Given the description of an element on the screen output the (x, y) to click on. 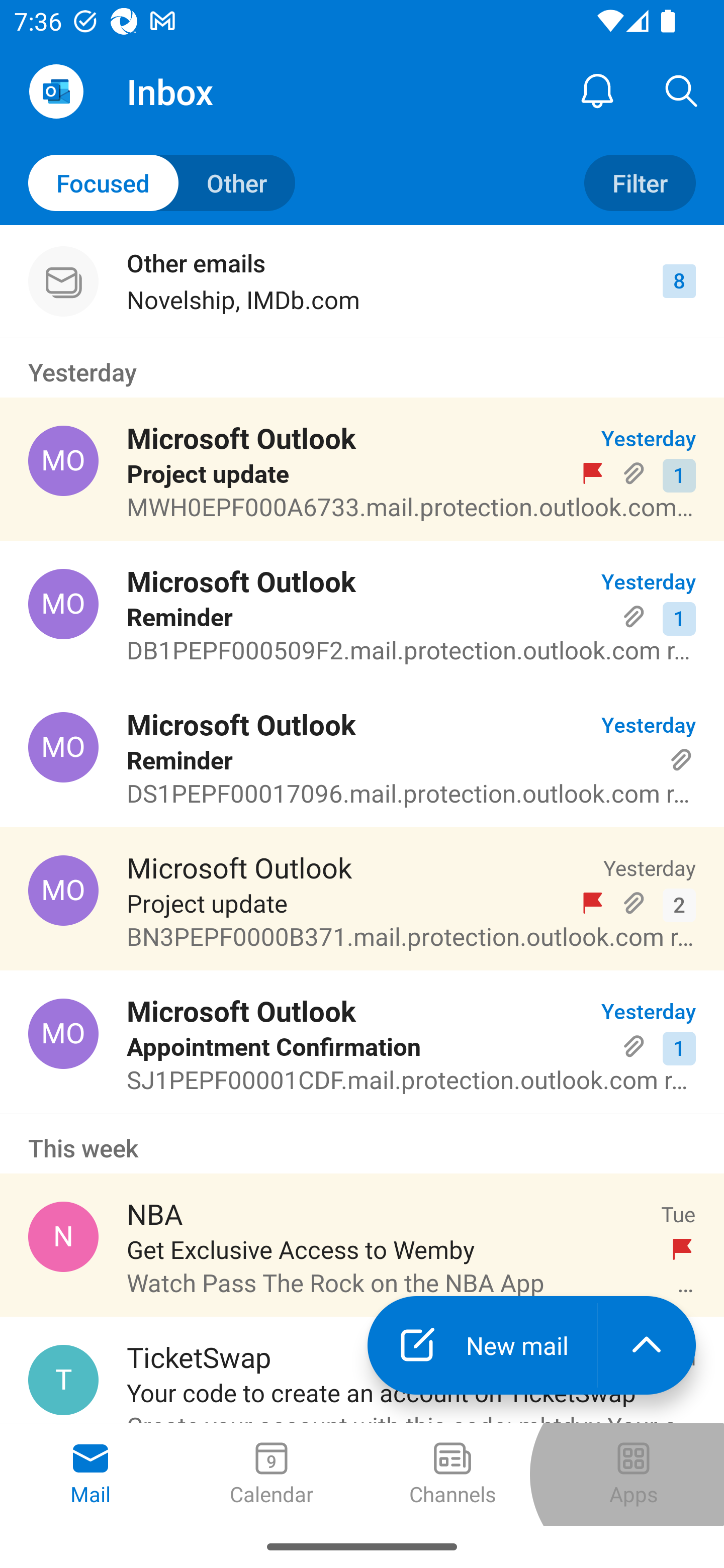
Notification Center (597, 90)
Search, ,  (681, 90)
Open Navigation Drawer (55, 91)
Toggle to other mails (161, 183)
Filter (639, 183)
Other emails Novelship, IMDb.com 8 (362, 281)
NBA, NBA@email.nba.com (63, 1236)
New mail (481, 1344)
launch the extended action menu (646, 1344)
TicketSwap, info@ticketswap.com (63, 1380)
Calendar (271, 1474)
Channels (452, 1474)
Apps (633, 1474)
